Given the description of an element on the screen output the (x, y) to click on. 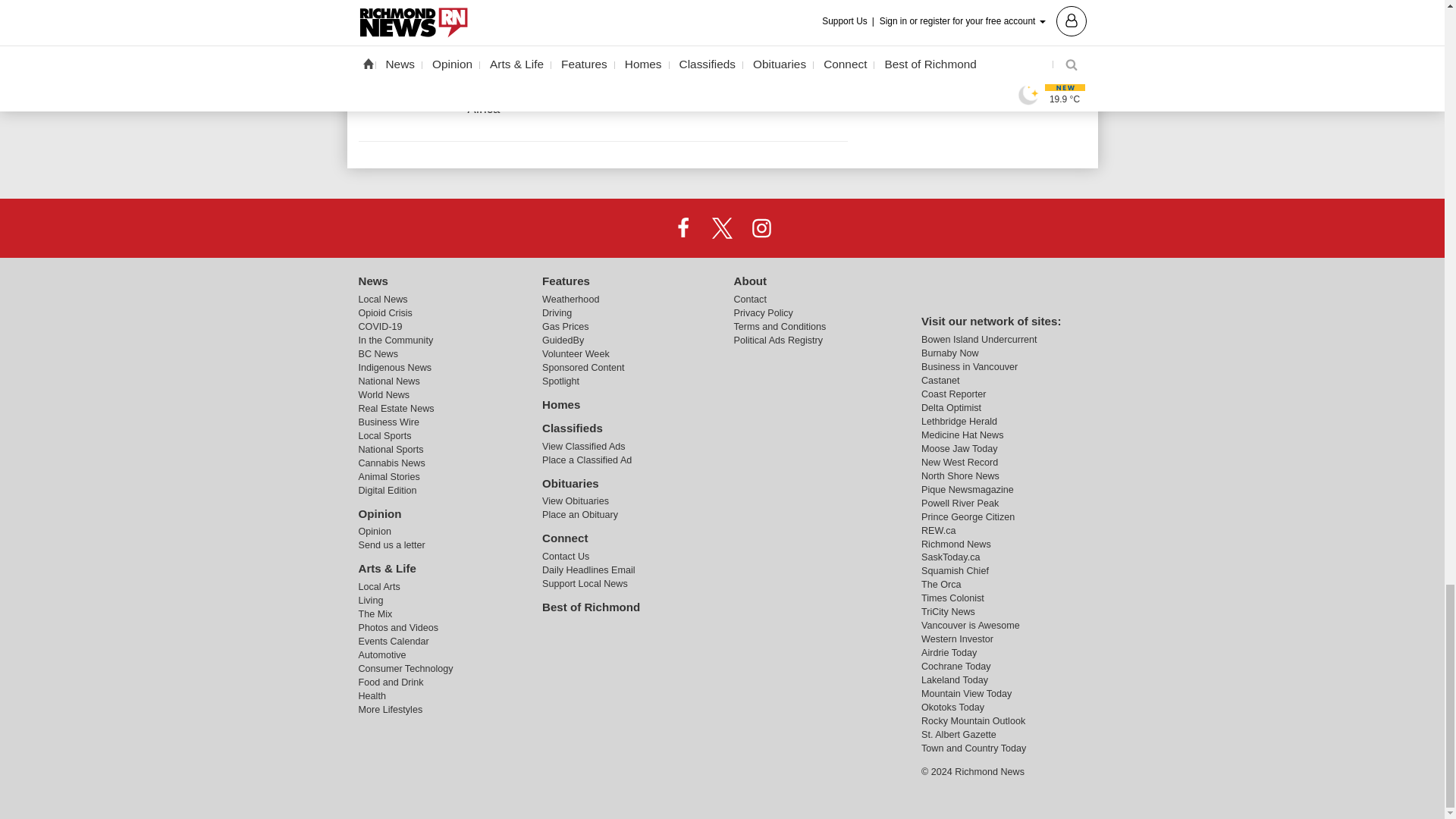
Facebook (683, 226)
X (721, 226)
Instagram (760, 226)
